Given the description of an element on the screen output the (x, y) to click on. 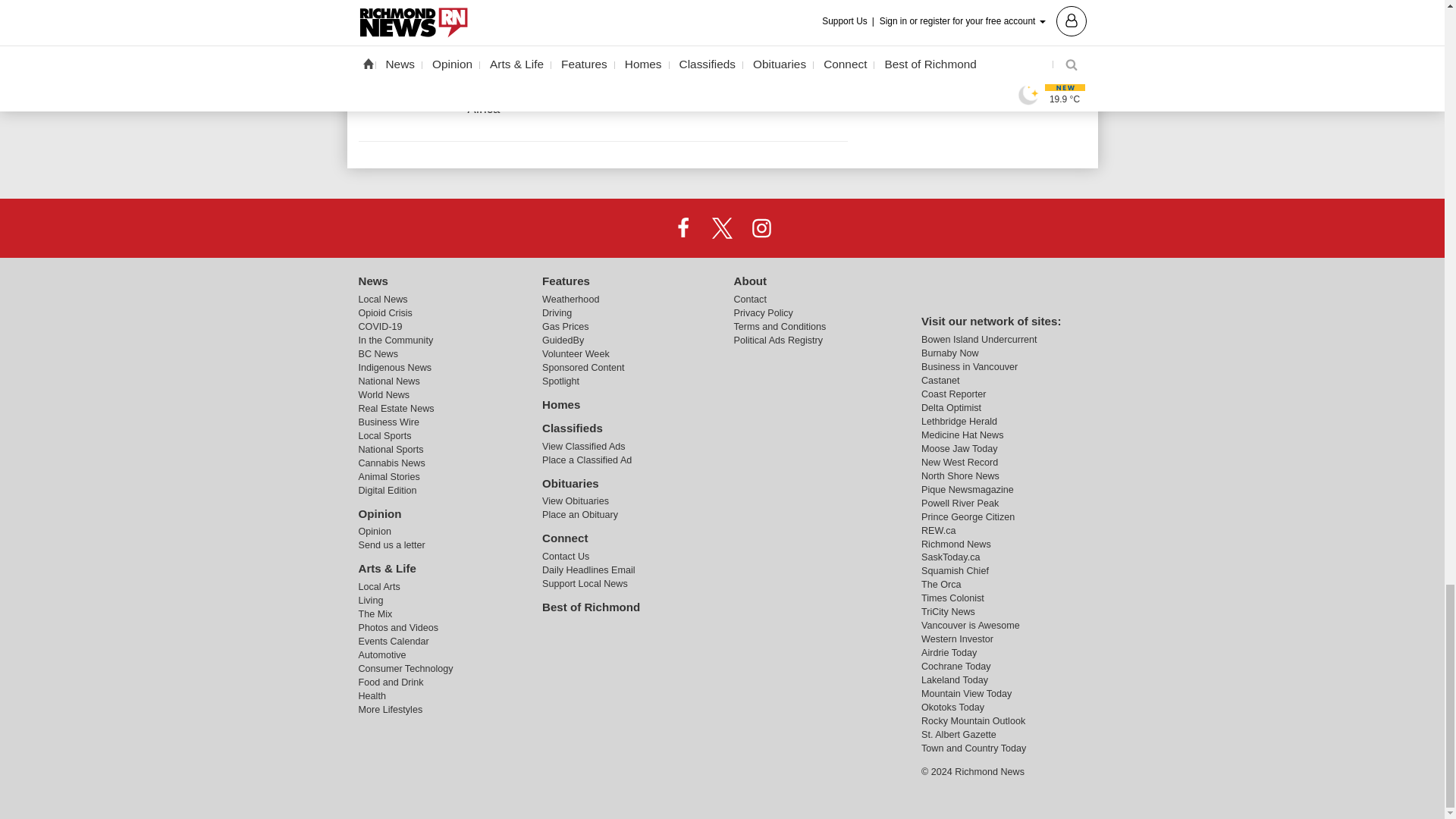
Facebook (683, 226)
X (721, 226)
Instagram (760, 226)
